Given the description of an element on the screen output the (x, y) to click on. 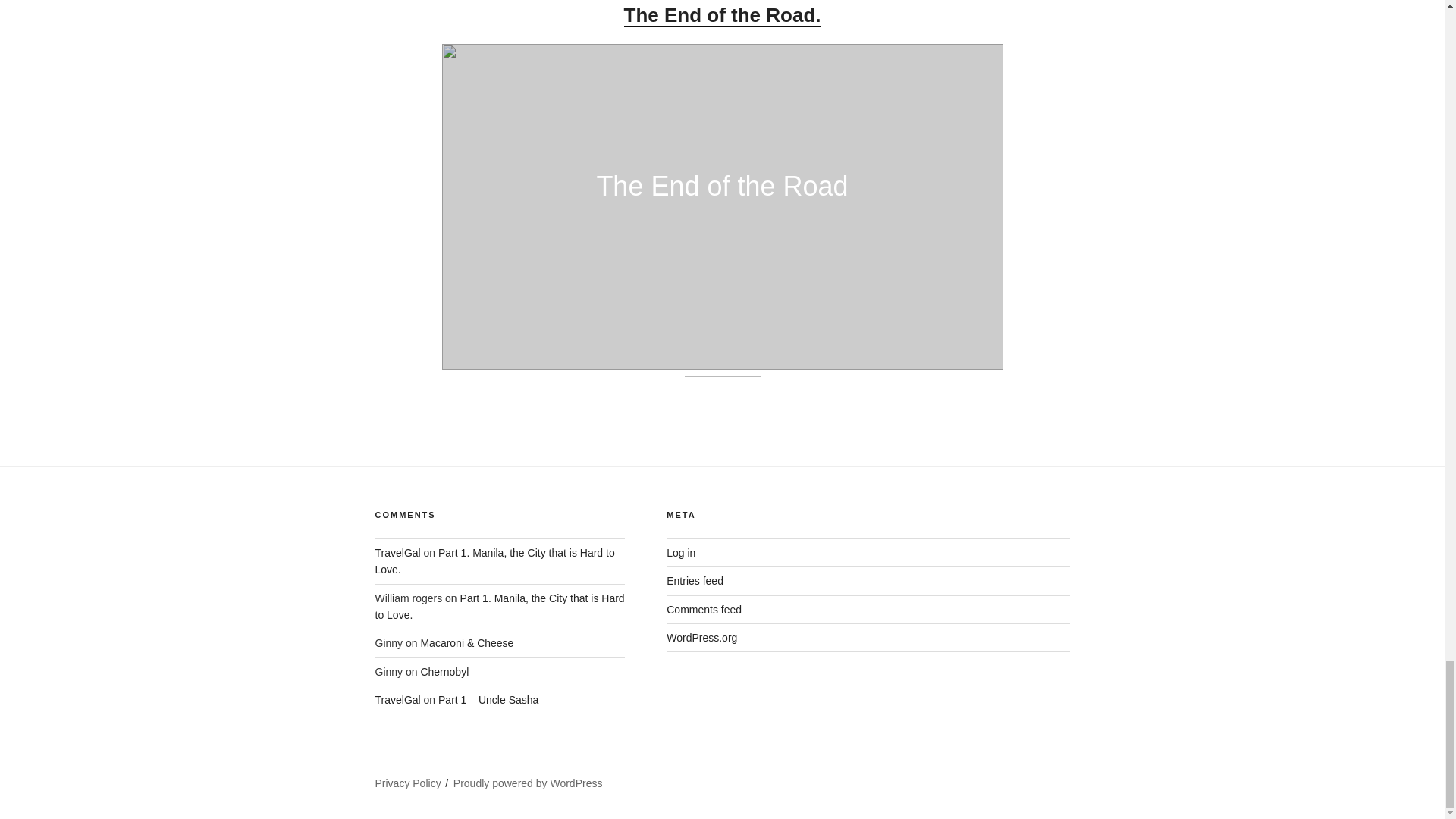
Part 1. Manila, the City that is Hard to Love. (494, 561)
Comments feed (703, 609)
Chernobyl (444, 671)
TravelGal (397, 552)
Log in (680, 552)
TravelGal (397, 699)
Part 1. Manila, the City that is Hard to Love. (499, 606)
Entries feed (694, 580)
